Given the description of an element on the screen output the (x, y) to click on. 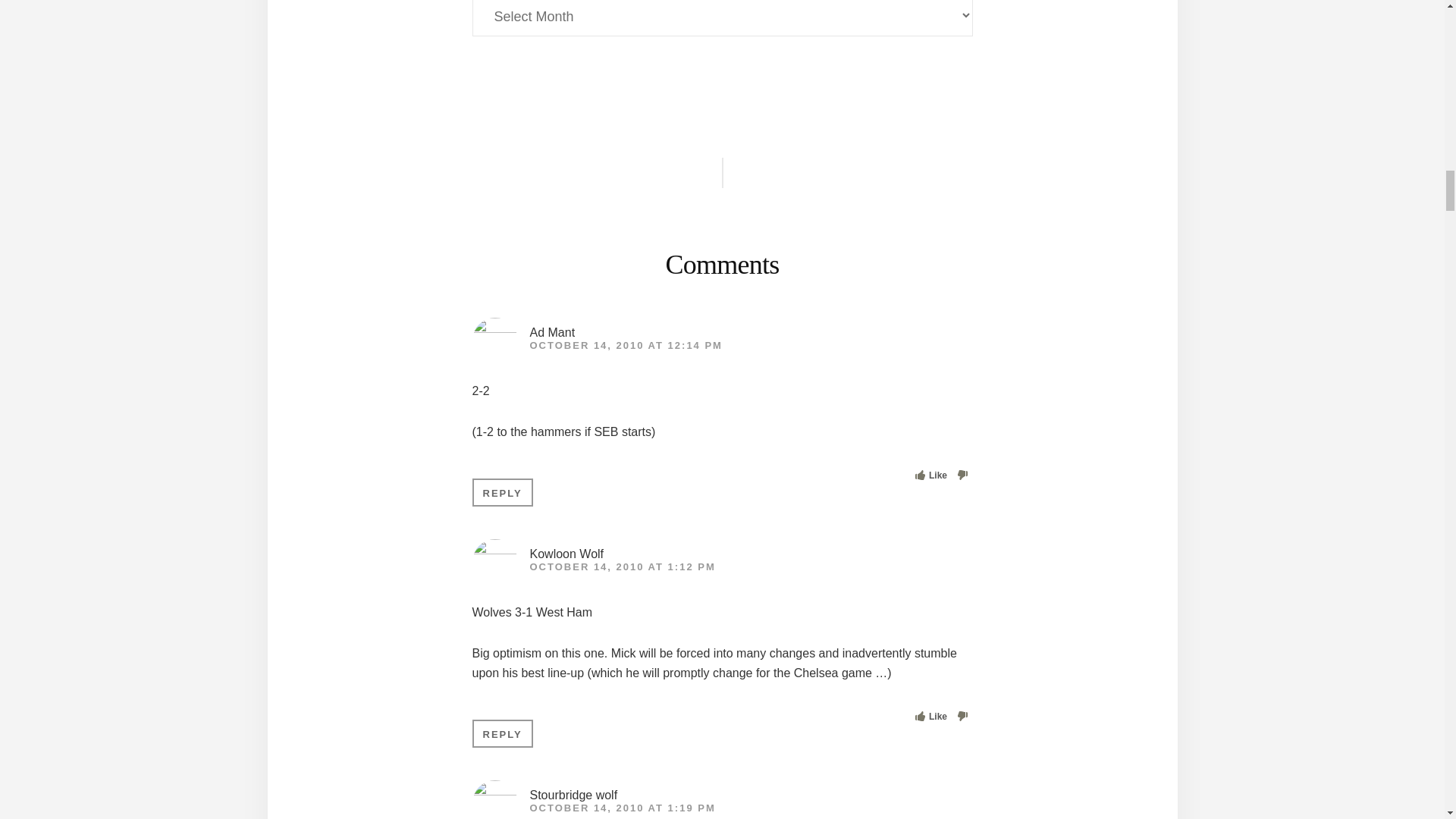
OCTOBER 14, 2010 AT 12:14 PM (625, 345)
REPLY (501, 492)
OCTOBER 14, 2010 AT 1:19 PM (621, 808)
REPLY (501, 733)
OCTOBER 14, 2010 AT 1:12 PM (621, 566)
